Given the description of an element on the screen output the (x, y) to click on. 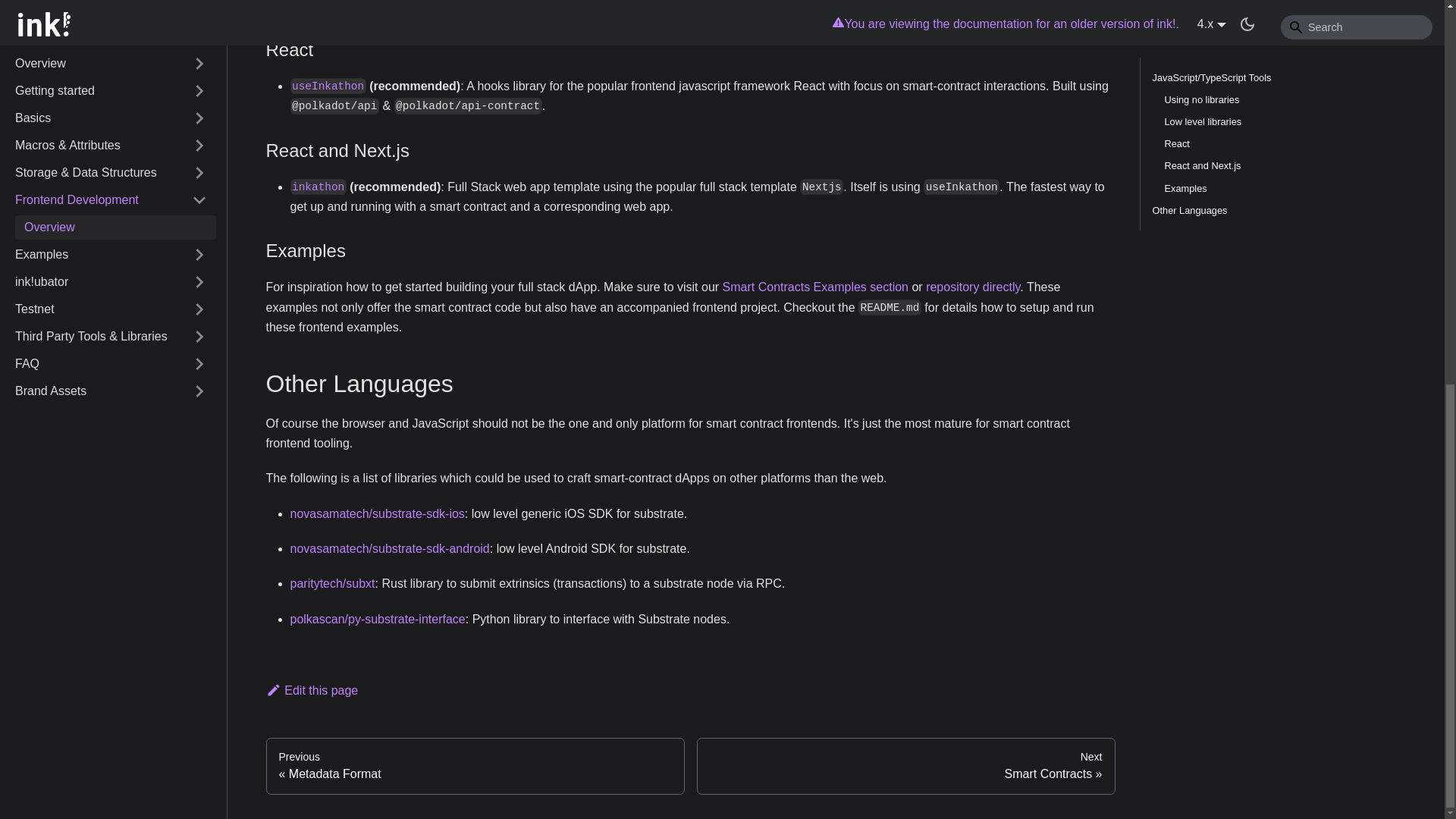
useInkathon (327, 85)
Smart Contracts Examples section (815, 286)
inkathon (317, 186)
